Given the description of an element on the screen output the (x, y) to click on. 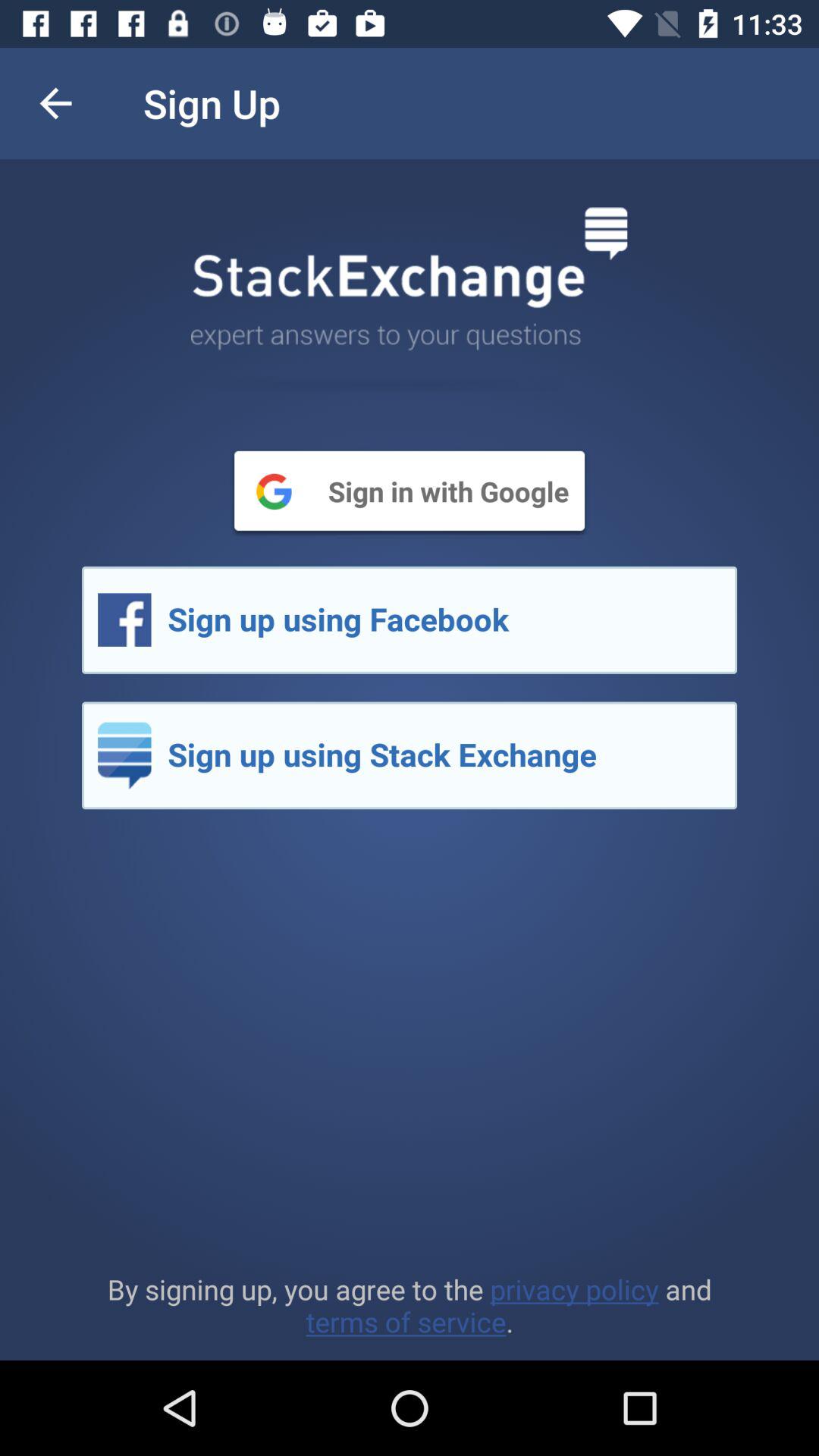
flip to by signing up icon (409, 1305)
